Given the description of an element on the screen output the (x, y) to click on. 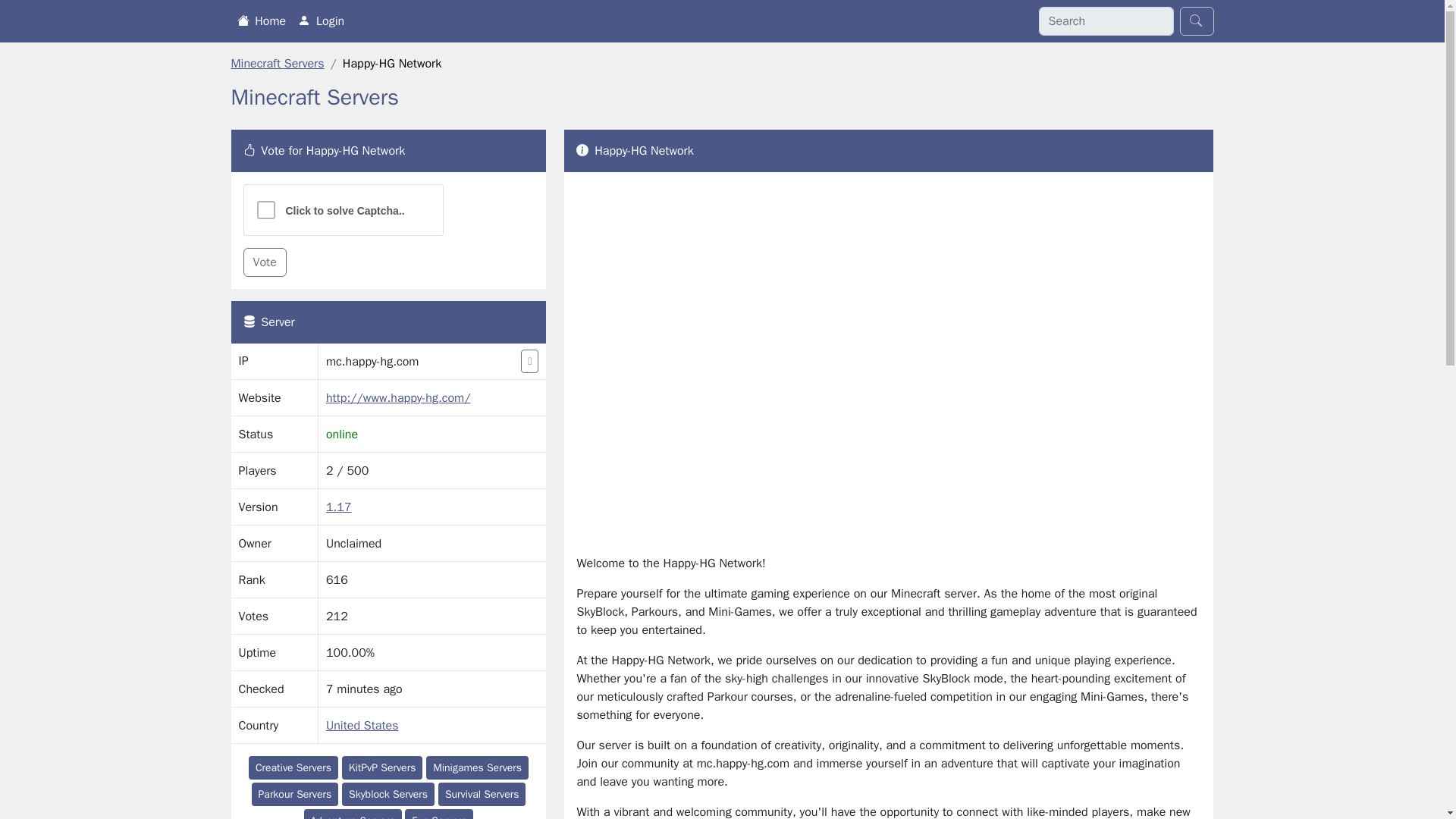
Vote (264, 262)
Fun Servers (438, 814)
Minigames Servers (477, 767)
Minecraft Servers (276, 63)
Login (321, 20)
Home (261, 20)
Vote (264, 262)
1.17 (339, 507)
Search (1196, 21)
